Given the description of an element on the screen output the (x, y) to click on. 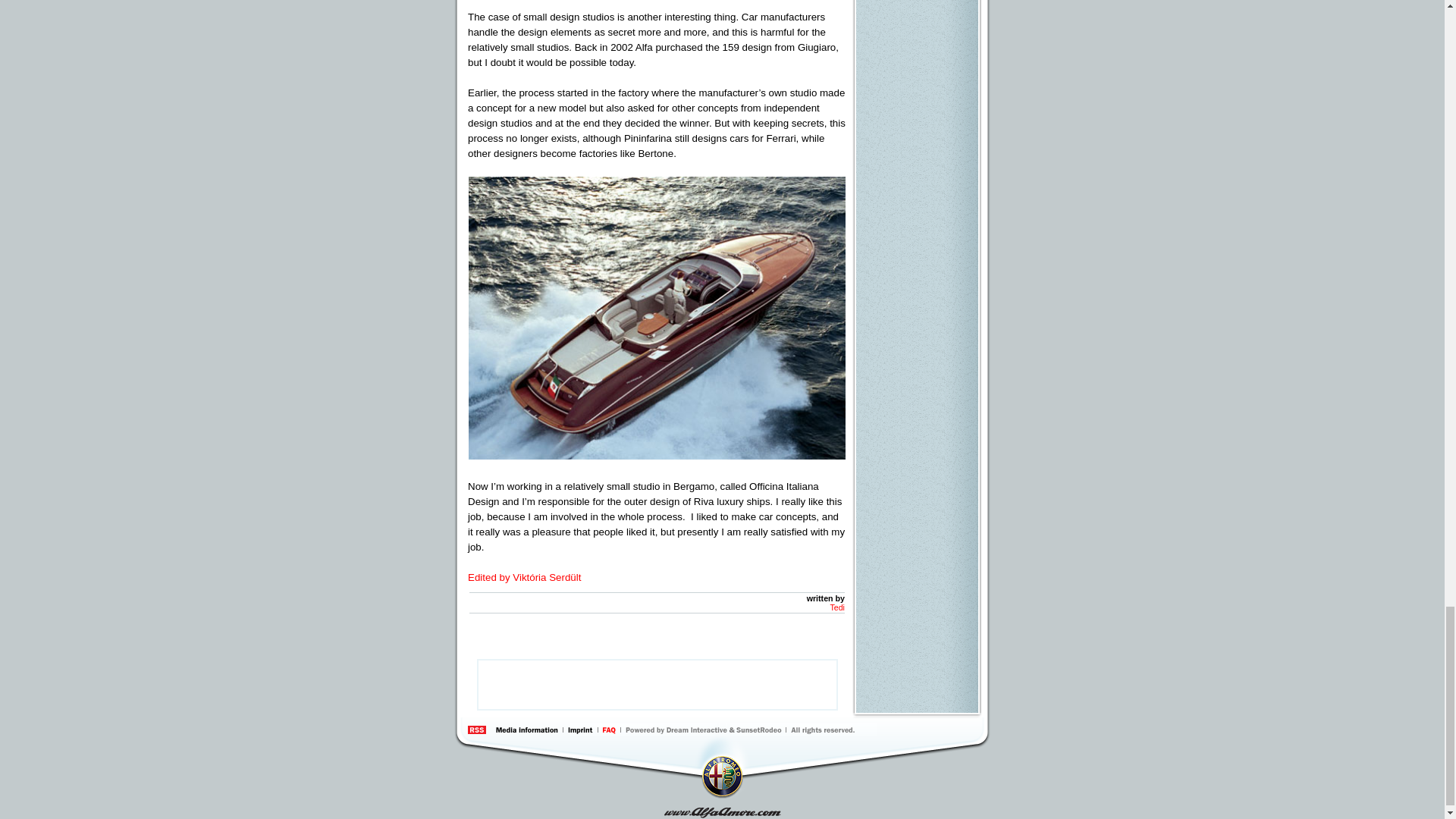
Tedi (836, 606)
